Given the description of an element on the screen output the (x, y) to click on. 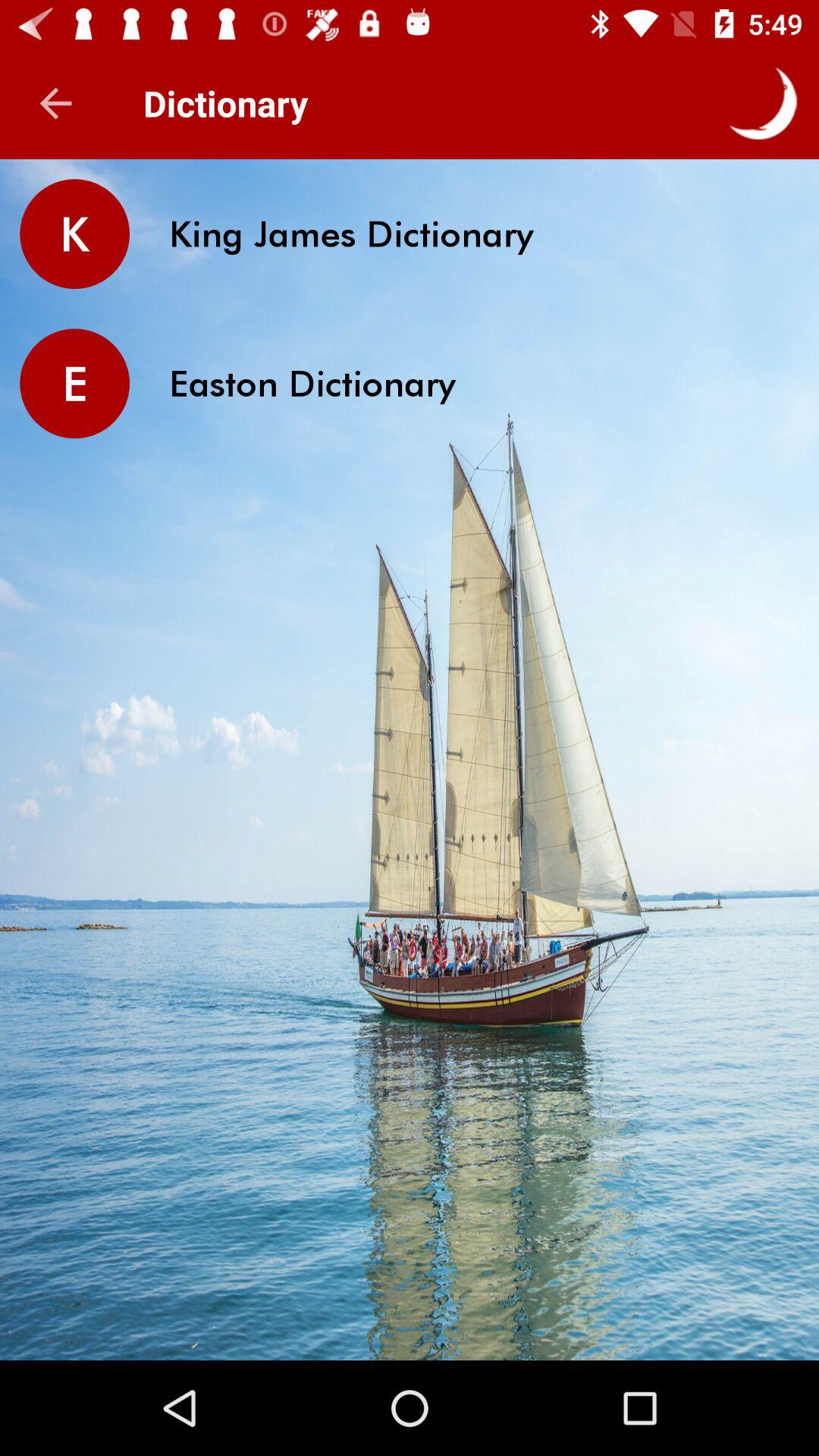
go back button (55, 103)
